Given the description of an element on the screen output the (x, y) to click on. 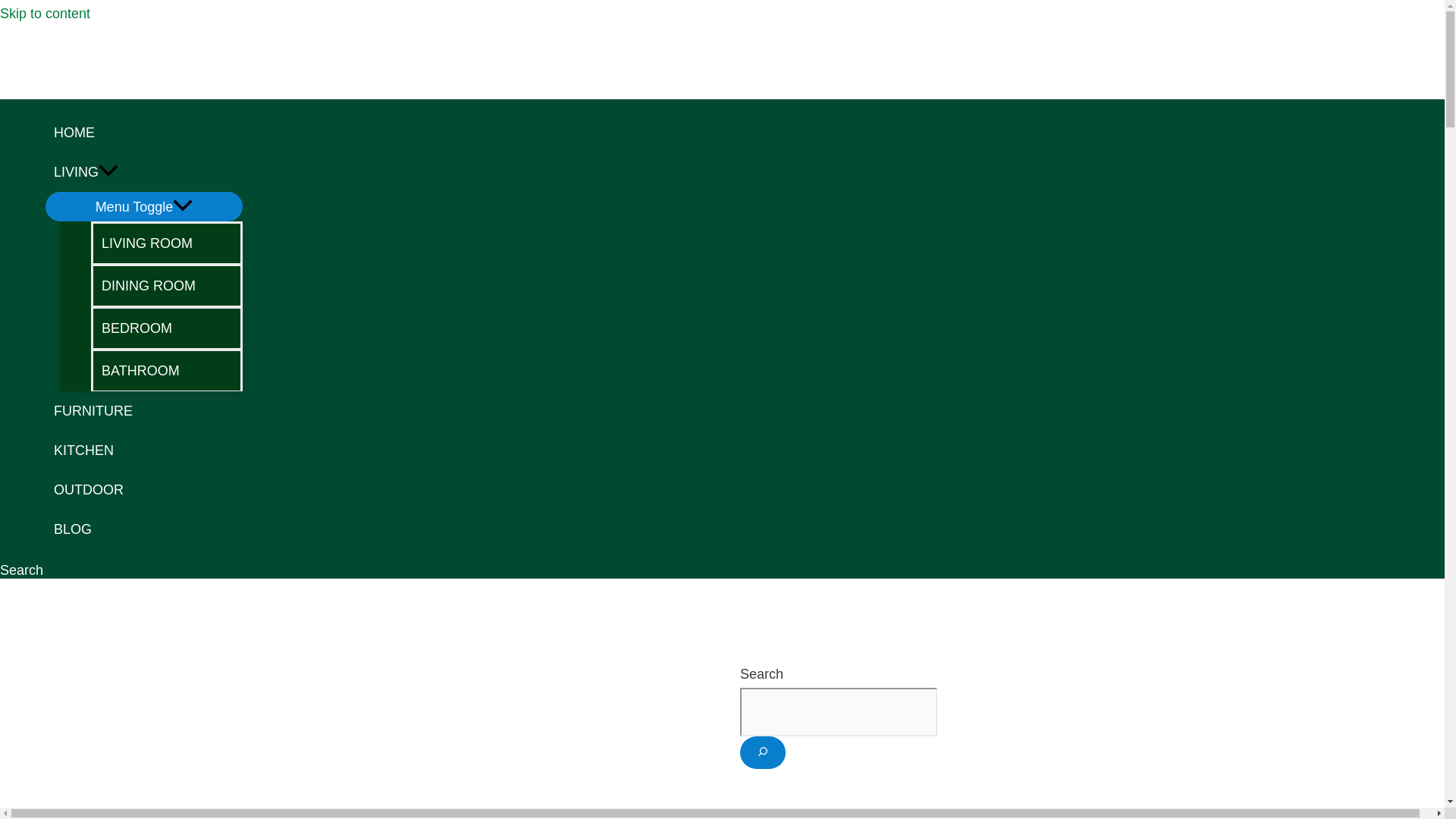
Skip to content (45, 13)
OUTDOOR (144, 489)
BLOG (144, 528)
Menu Toggle (144, 206)
FURNITURE (144, 410)
LIVING ROOM (166, 242)
Skip to content (45, 13)
BEDROOM (166, 327)
LIVING (144, 171)
KITCHEN (144, 450)
